Given the description of an element on the screen output the (x, y) to click on. 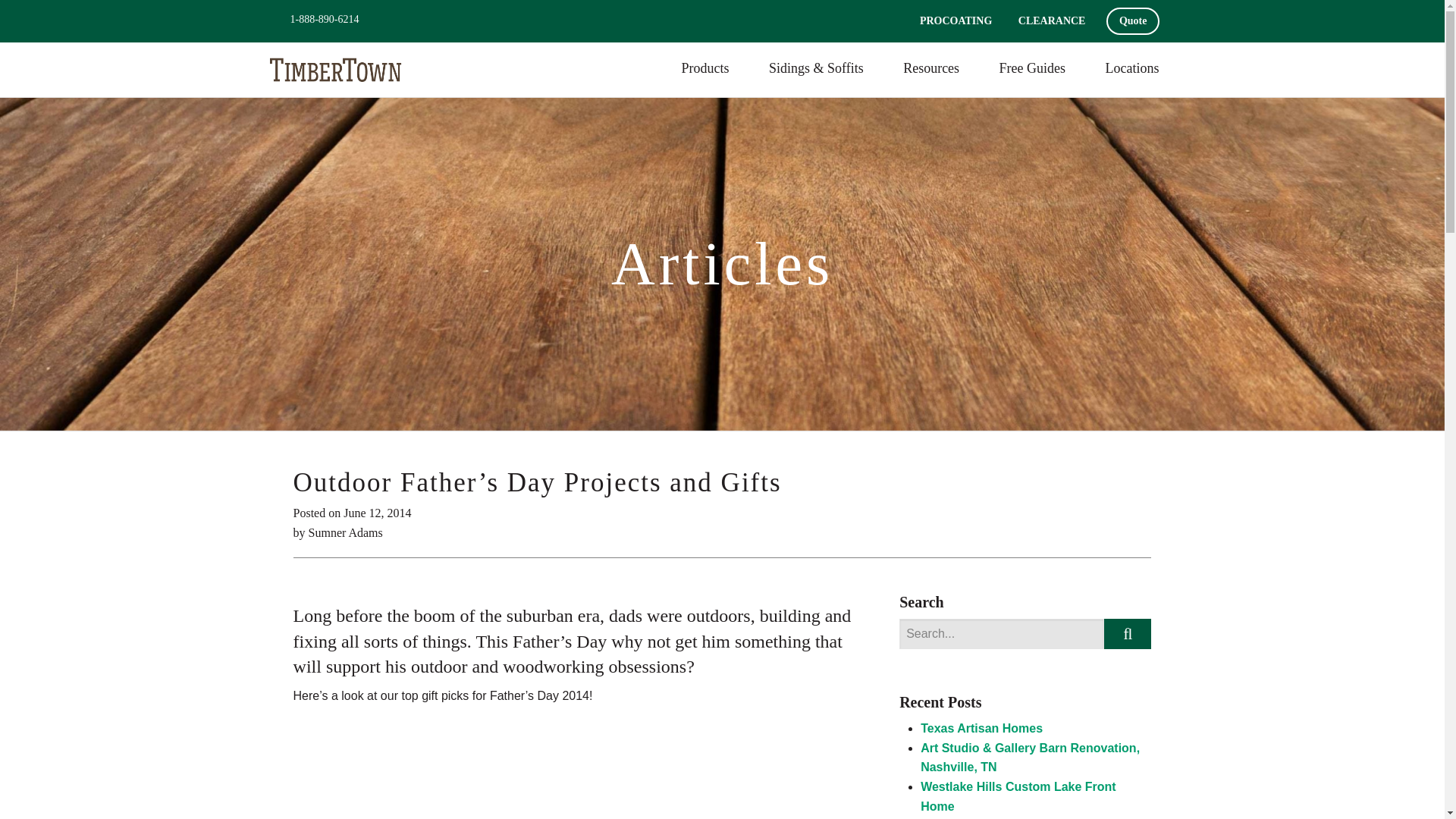
Search for: (1001, 634)
